Given the description of an element on the screen output the (x, y) to click on. 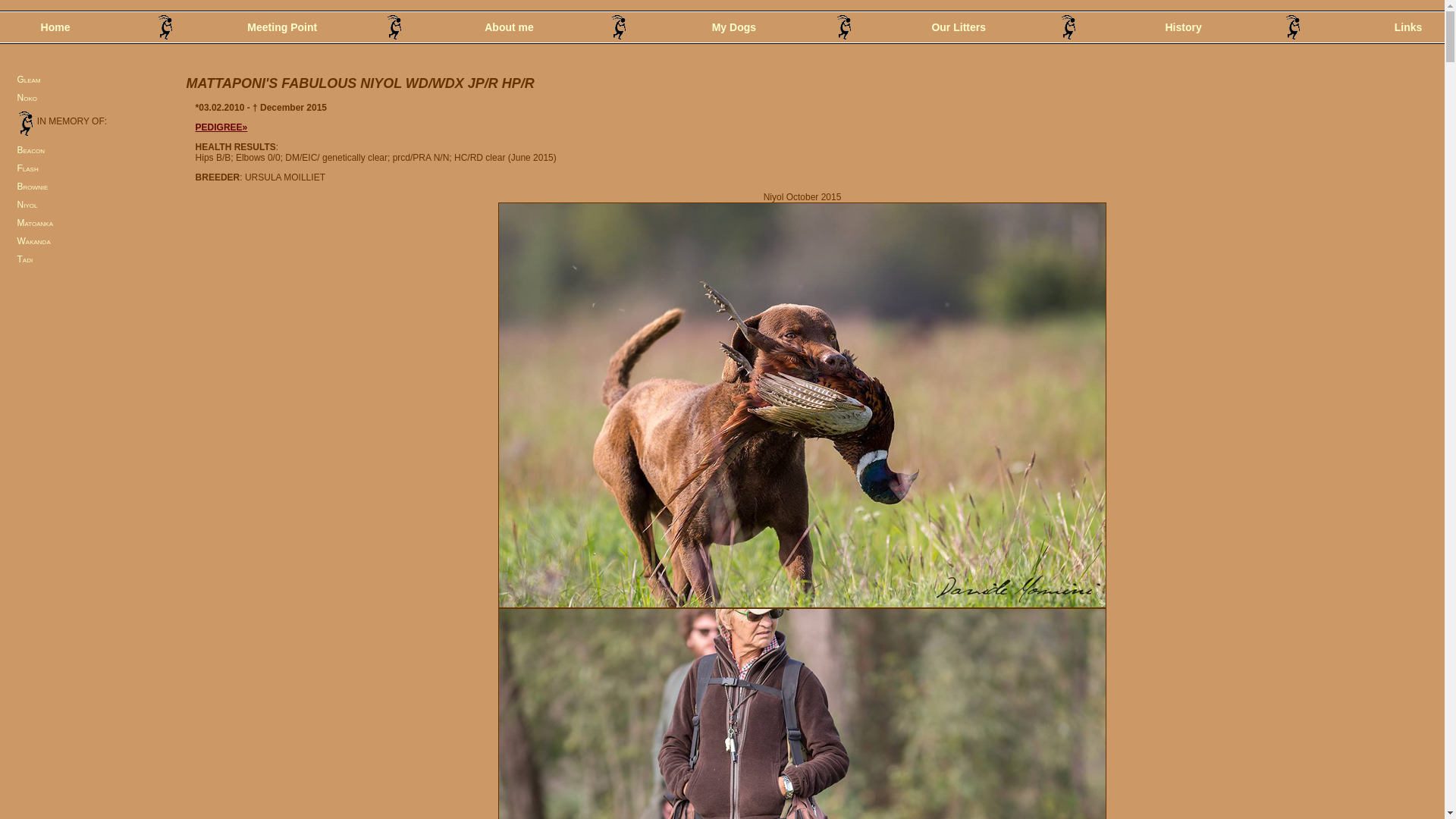
Matoanka Element type: text (34, 222)
Noko Element type: text (26, 97)
Tadi Element type: text (24, 259)
My Dogs Element type: text (731, 25)
Our Litters Element type: text (955, 25)
Gleam Element type: text (28, 79)
Brownie Element type: text (31, 186)
Home Element type: text (53, 25)
About me Element type: text (506, 25)
Niyol Element type: text (26, 204)
Meeting Point Element type: text (279, 25)
Flash Element type: text (26, 168)
Beacon Element type: text (29, 150)
Wakanda Element type: text (33, 241)
Links Element type: text (1405, 25)
History Element type: text (1180, 25)
